Given the description of an element on the screen output the (x, y) to click on. 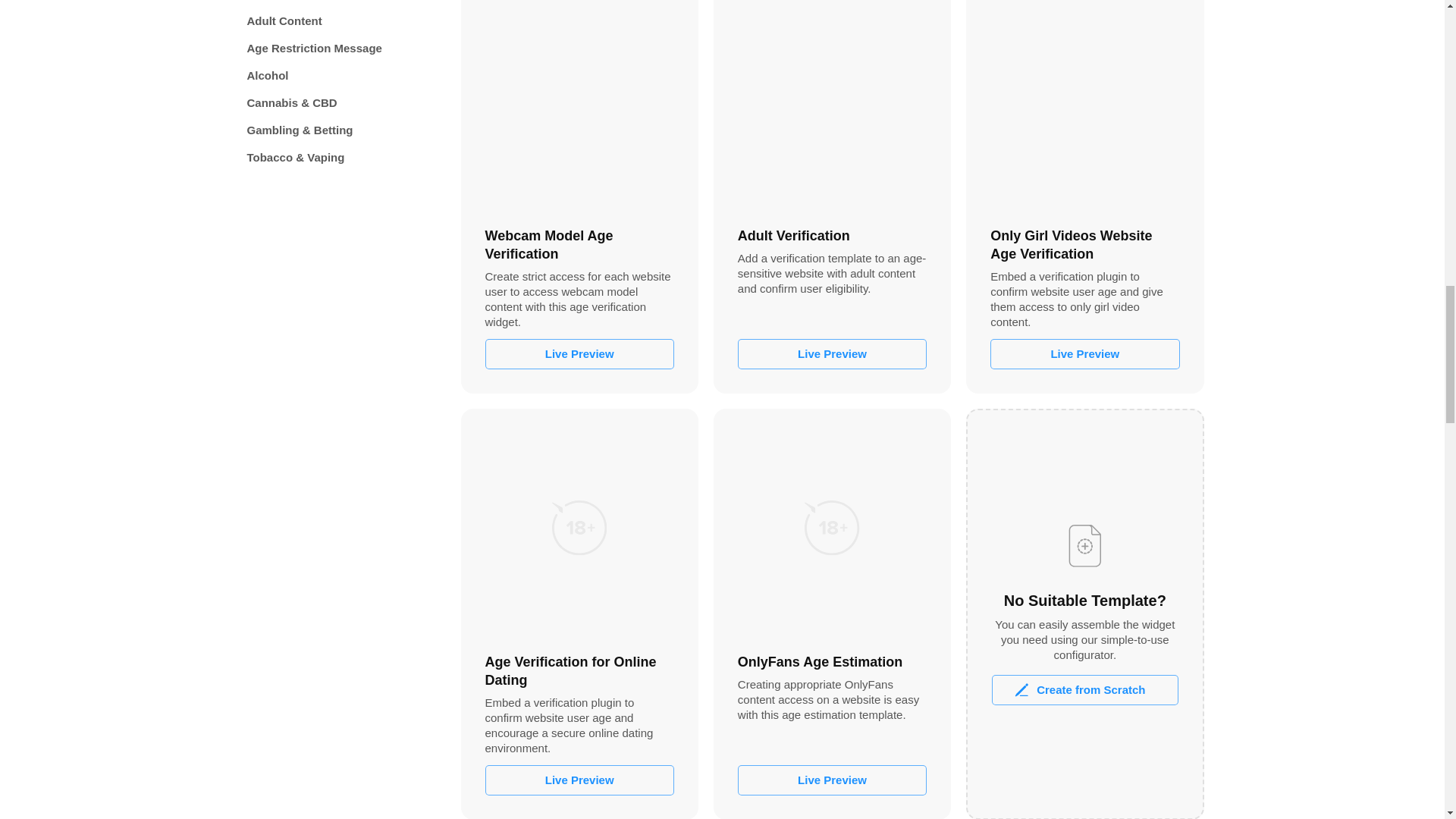
Age Verification for Online Dating (579, 527)
Adult Verification (832, 105)
OnlyFans Age Estimation (832, 527)
Only Girl Videos Website Age Verification (1084, 105)
Webcam Model Age Verification (579, 105)
